Given the description of an element on the screen output the (x, y) to click on. 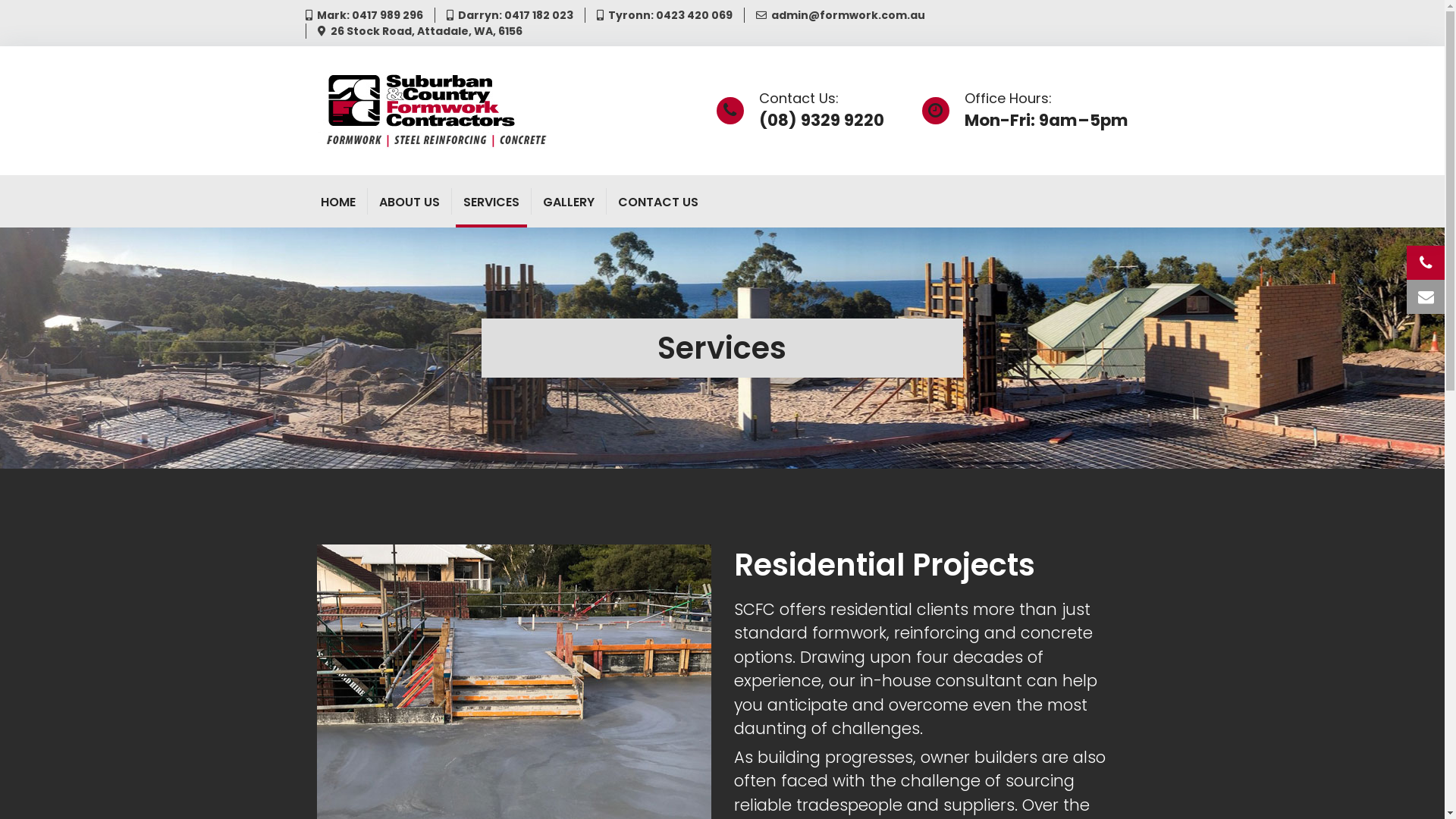
Skip to content Element type: text (0, 0)
ABOUT US Element type: text (409, 200)
  Tyronn: 0423 420 069 Element type: text (667, 15)
  admin@formwork.com.au Element type: text (844, 15)
SERVICES Element type: text (490, 200)
(08) 9329 9220 Element type: text (820, 119)
  Darryn: 0417 182 023 Element type: text (513, 15)
CONTACT US Element type: text (657, 200)
  Mark: 0417 989 296 Element type: text (367, 15)
GALLERY Element type: text (568, 200)
HOME Element type: text (337, 200)
